Given the description of an element on the screen output the (x, y) to click on. 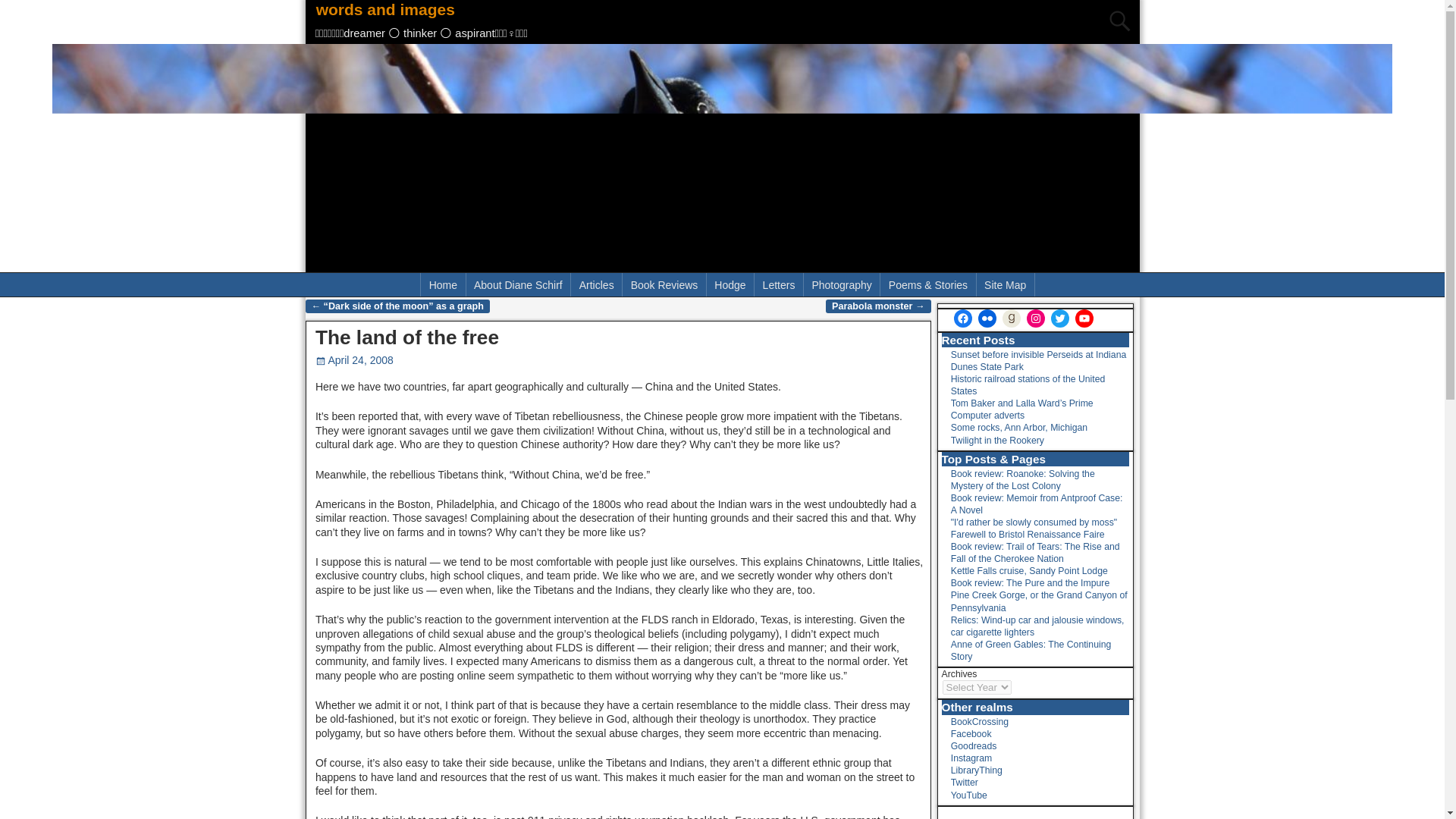
Articles (596, 284)
Site Map (1005, 284)
Hodge (730, 284)
words and images (386, 9)
words and images (386, 9)
Letters (778, 284)
April 24, 2008 (354, 359)
Book Reviews (664, 284)
Home (442, 284)
Sunset before invisible Perseids at Indiana Dunes State Park (1038, 360)
